Given the description of an element on the screen output the (x, y) to click on. 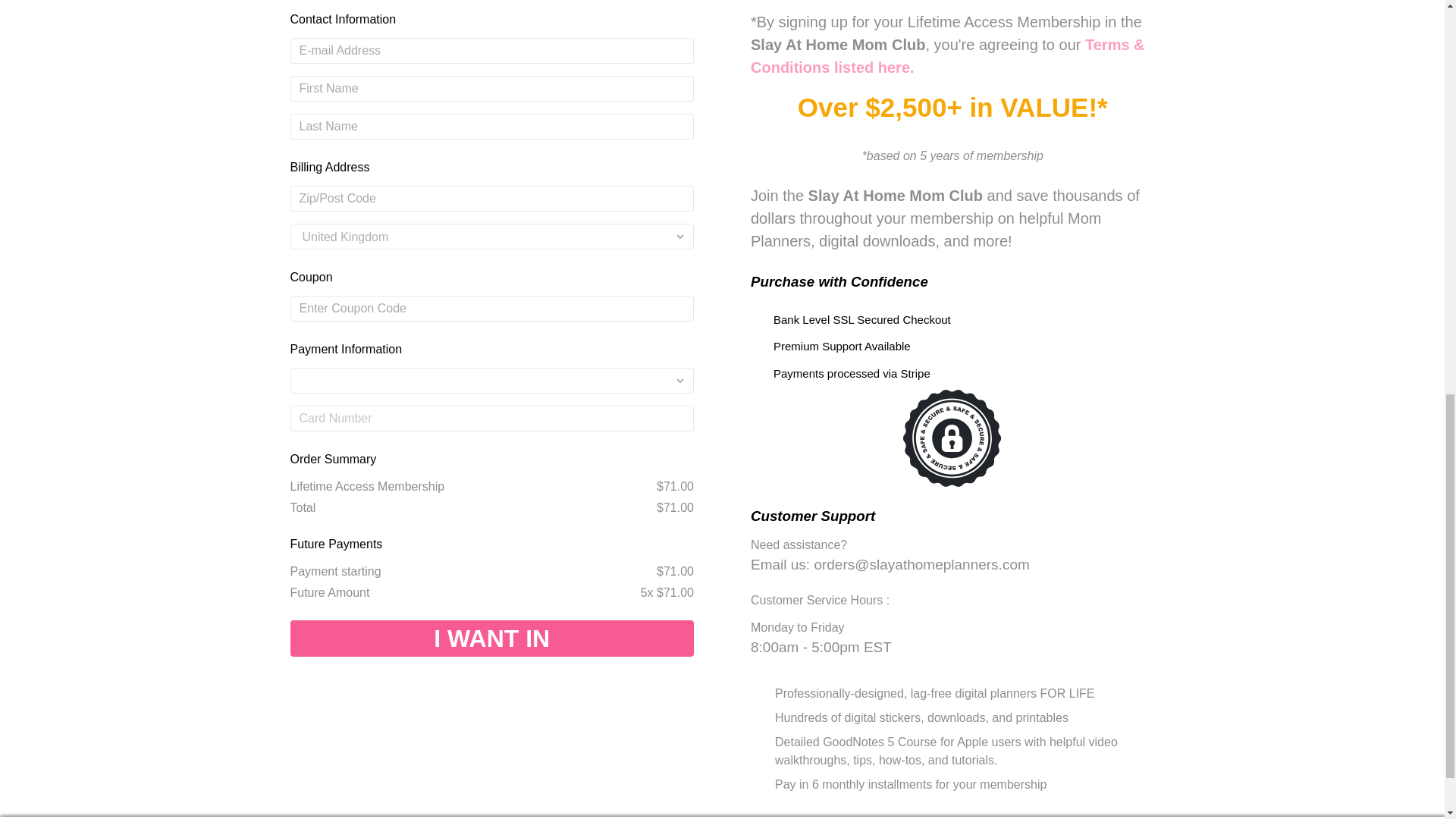
I WANT IN (491, 637)
